Given the description of an element on the screen output the (x, y) to click on. 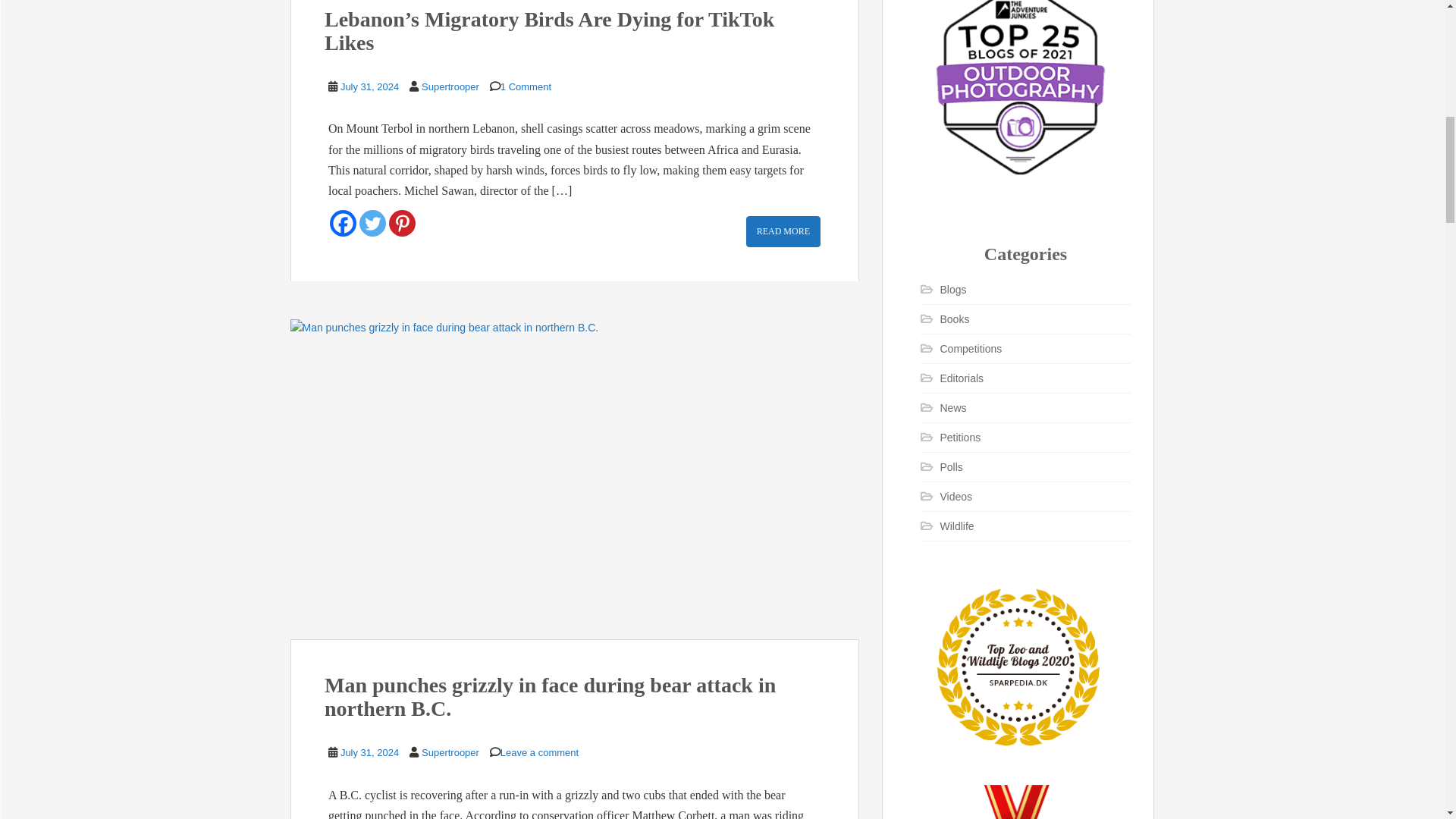
Leave a comment (539, 752)
Supertrooper (450, 752)
Facebook (343, 222)
1 Comment (525, 86)
Supertrooper (450, 86)
July 31, 2024 (369, 752)
Twitter (372, 222)
July 31, 2024 (369, 86)
READ MORE (783, 231)
Pinterest (401, 222)
